Given the description of an element on the screen output the (x, y) to click on. 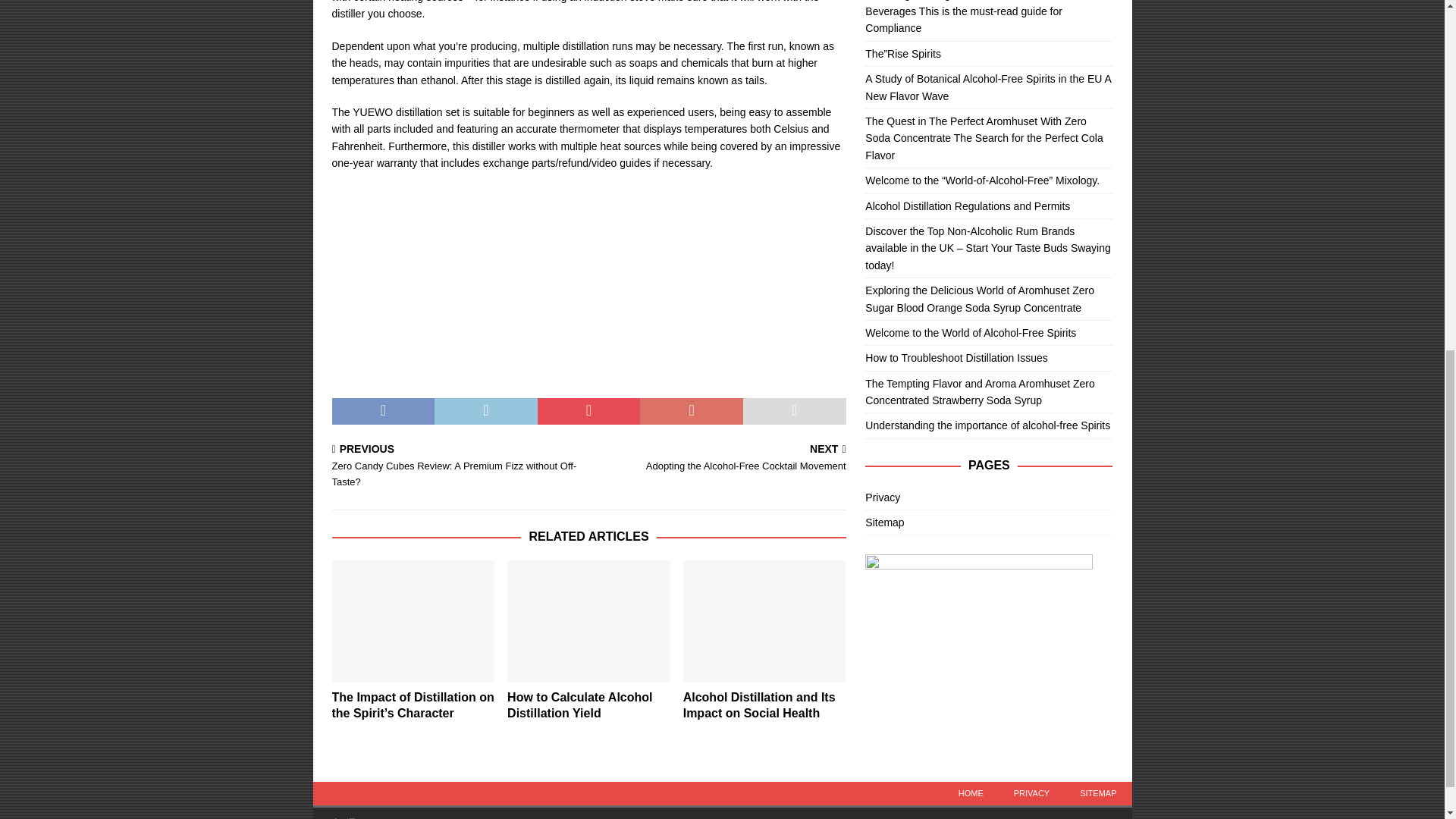
How to Calculate Alcohol Distillation Yield (579, 705)
Alcohol Distillation and Its Impact on Social Health (720, 459)
